Given the description of an element on the screen output the (x, y) to click on. 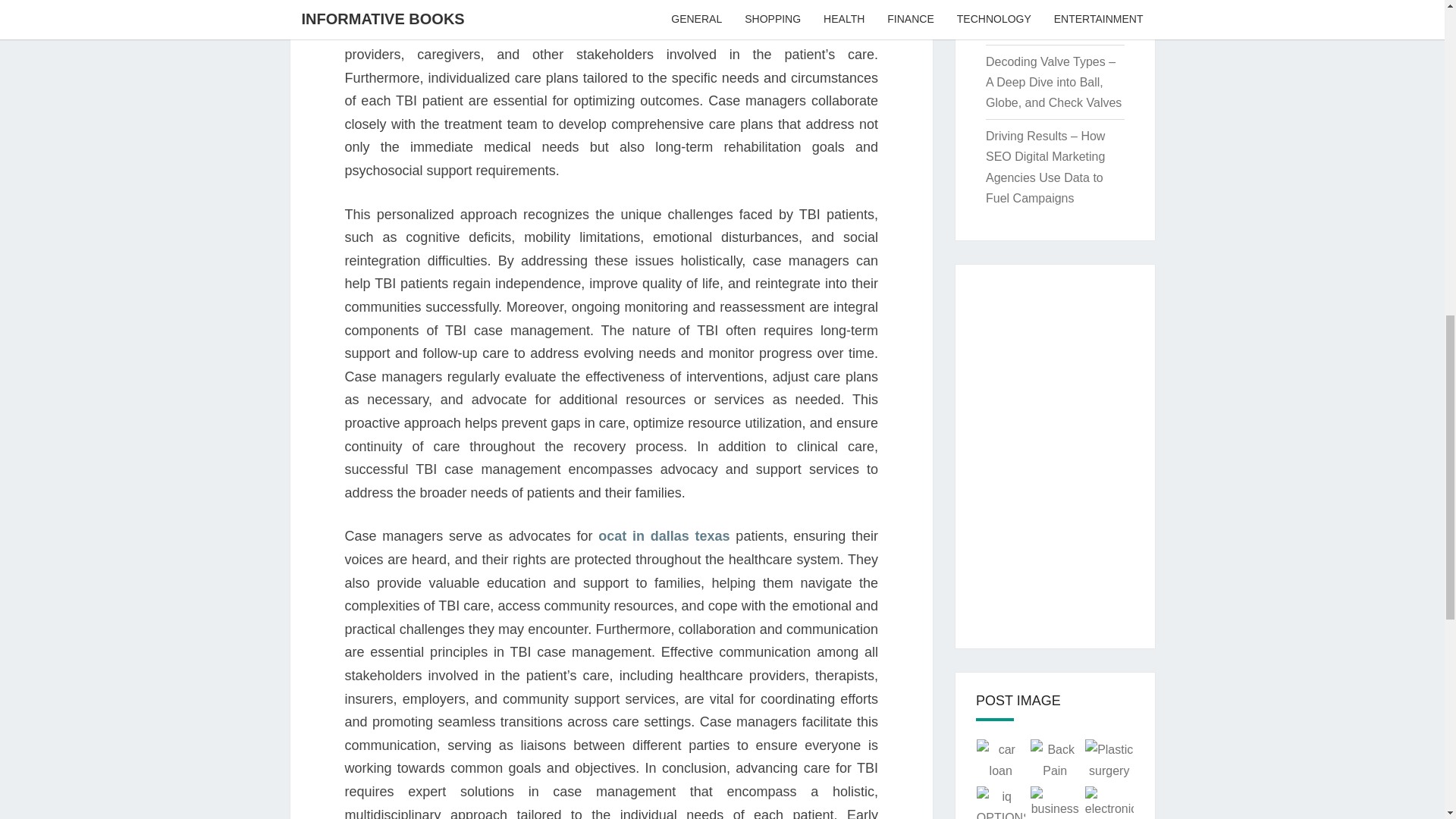
ocat in dallas texas (663, 535)
